Given the description of an element on the screen output the (x, y) to click on. 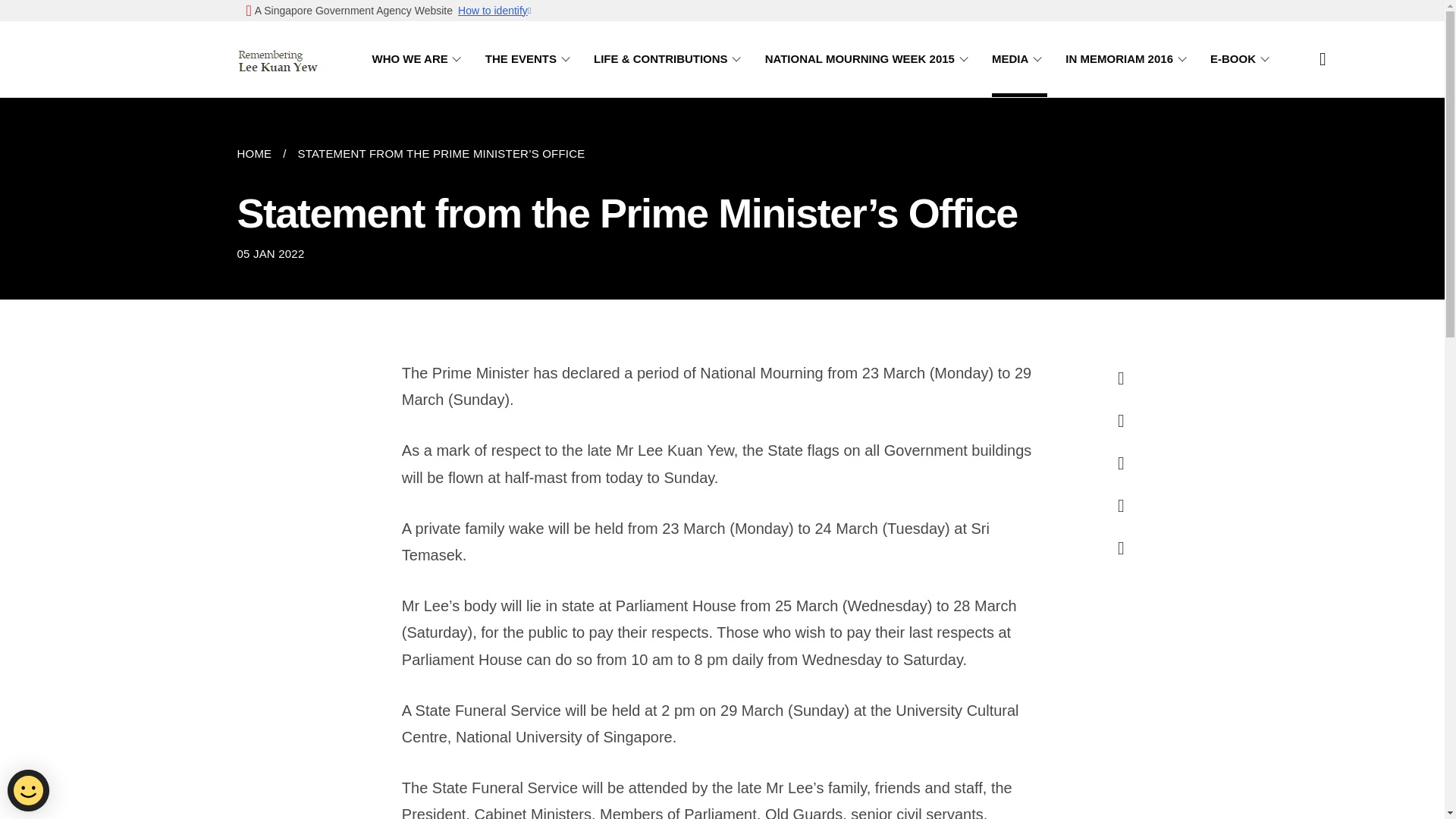
IN MEMORIAM 2016 (1128, 59)
HOME (258, 153)
NATIONAL MOURNING WEEK 2015 (869, 59)
WHO WE ARE (418, 59)
THE EVENTS (529, 59)
